Given the description of an element on the screen output the (x, y) to click on. 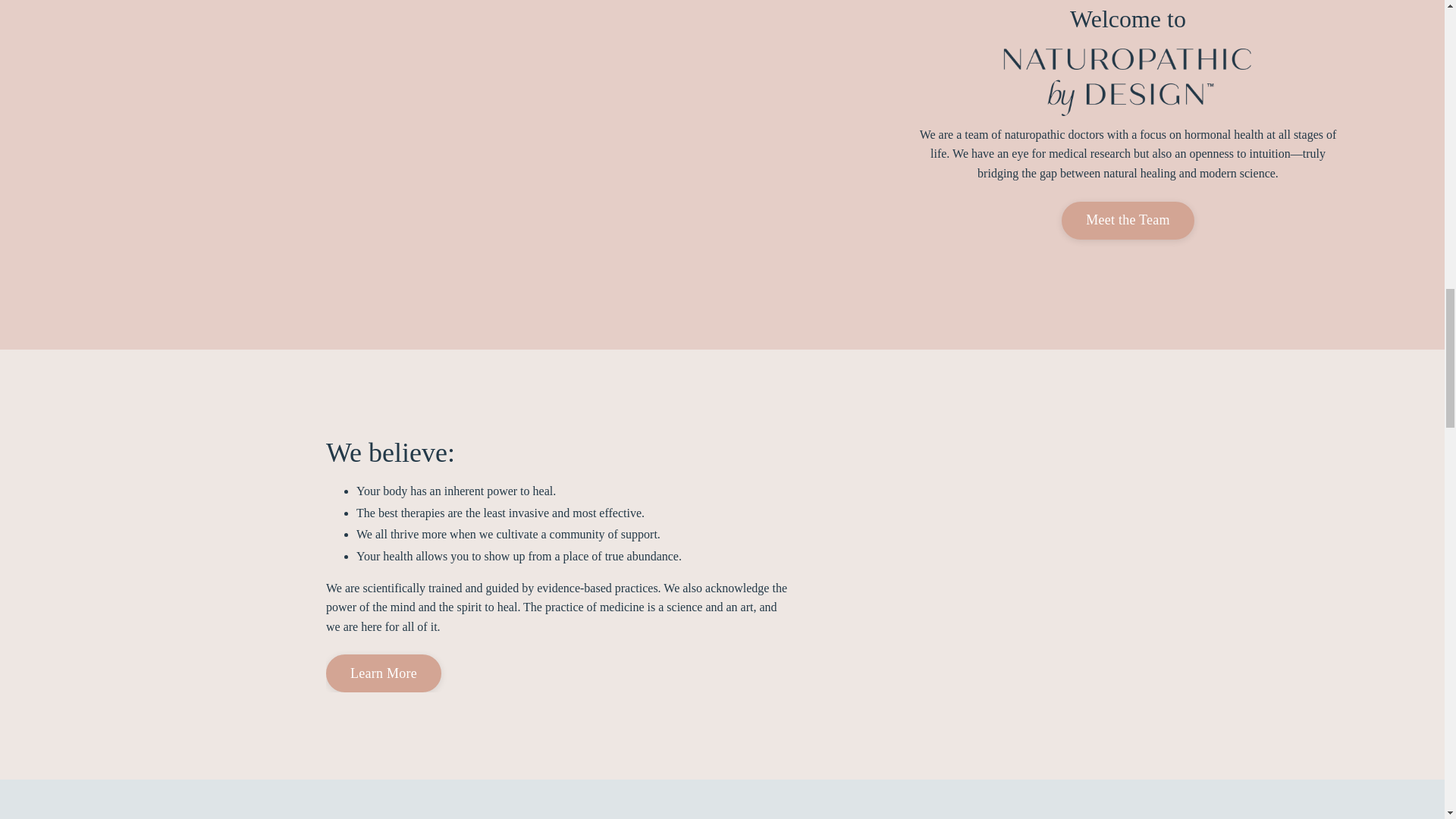
Meet the Team (1127, 220)
Learn More (383, 673)
